Given the description of an element on the screen output the (x, y) to click on. 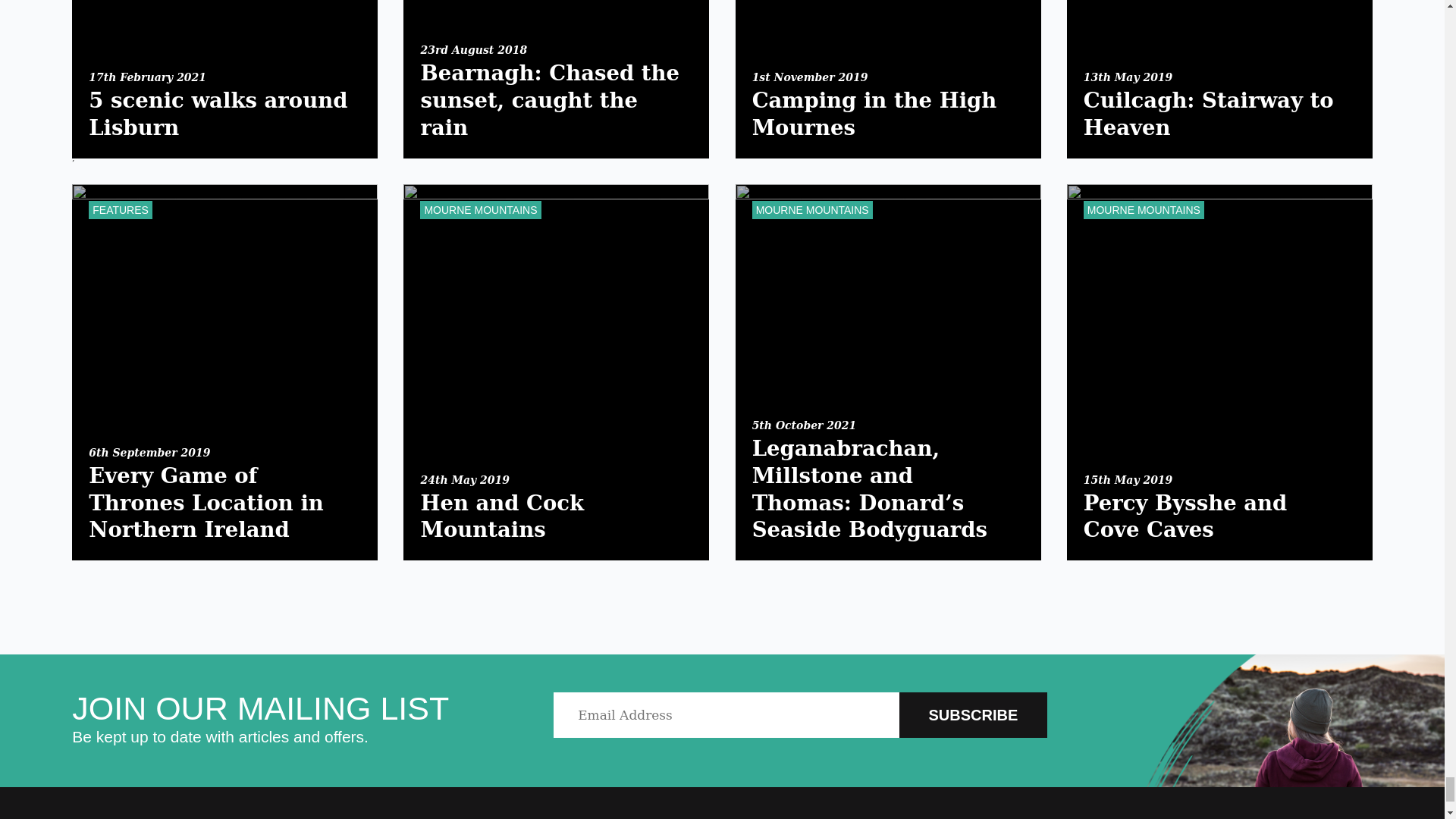
Subscribe (972, 714)
